Given the description of an element on the screen output the (x, y) to click on. 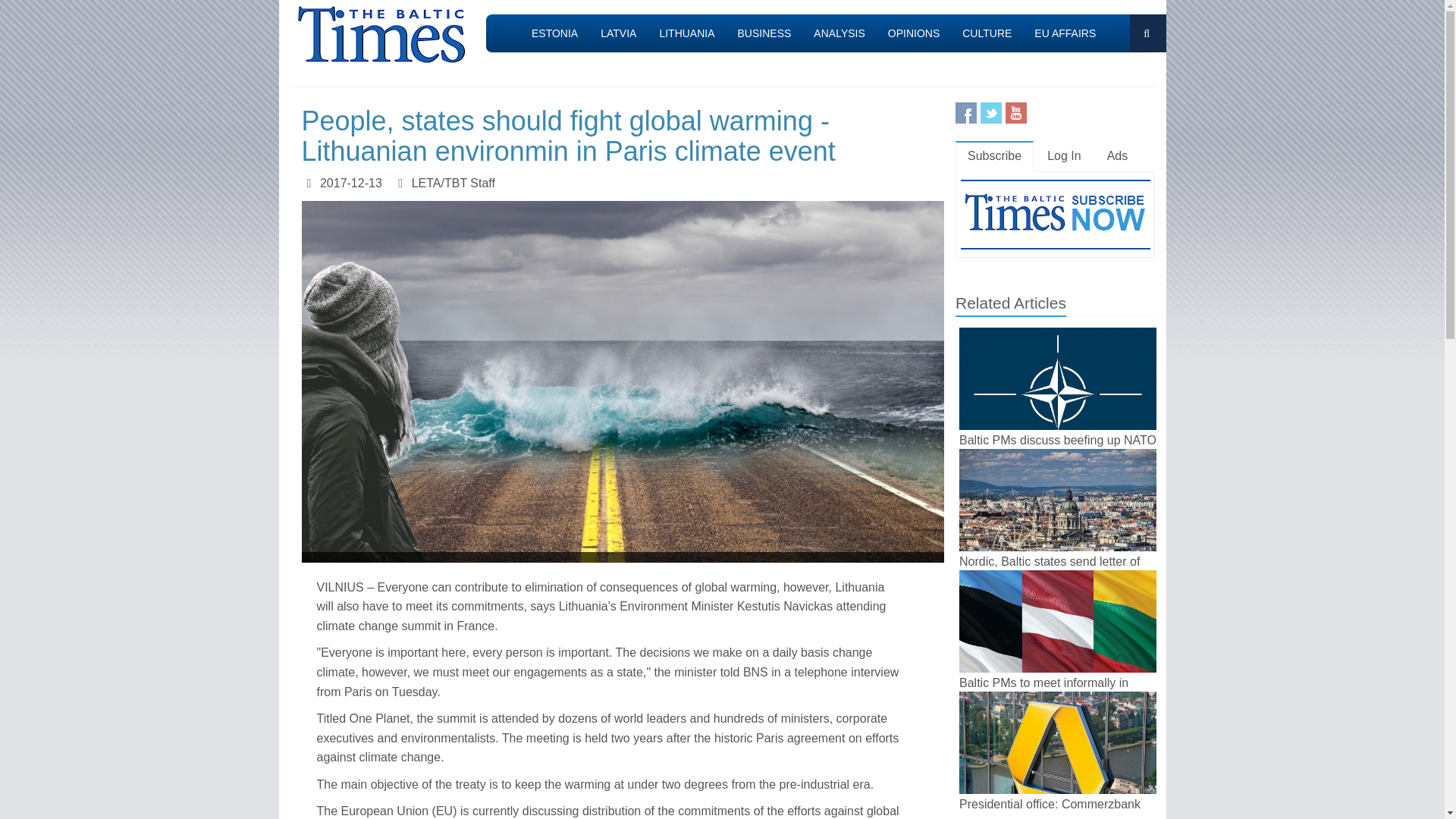
Subscribe (994, 155)
LITHUANIA (686, 33)
ANALYSIS (839, 33)
CULTURE (986, 33)
BUSINESS (764, 33)
LATVIA (618, 33)
OPINIONS (913, 33)
ESTONIA (554, 33)
